Given the description of an element on the screen output the (x, y) to click on. 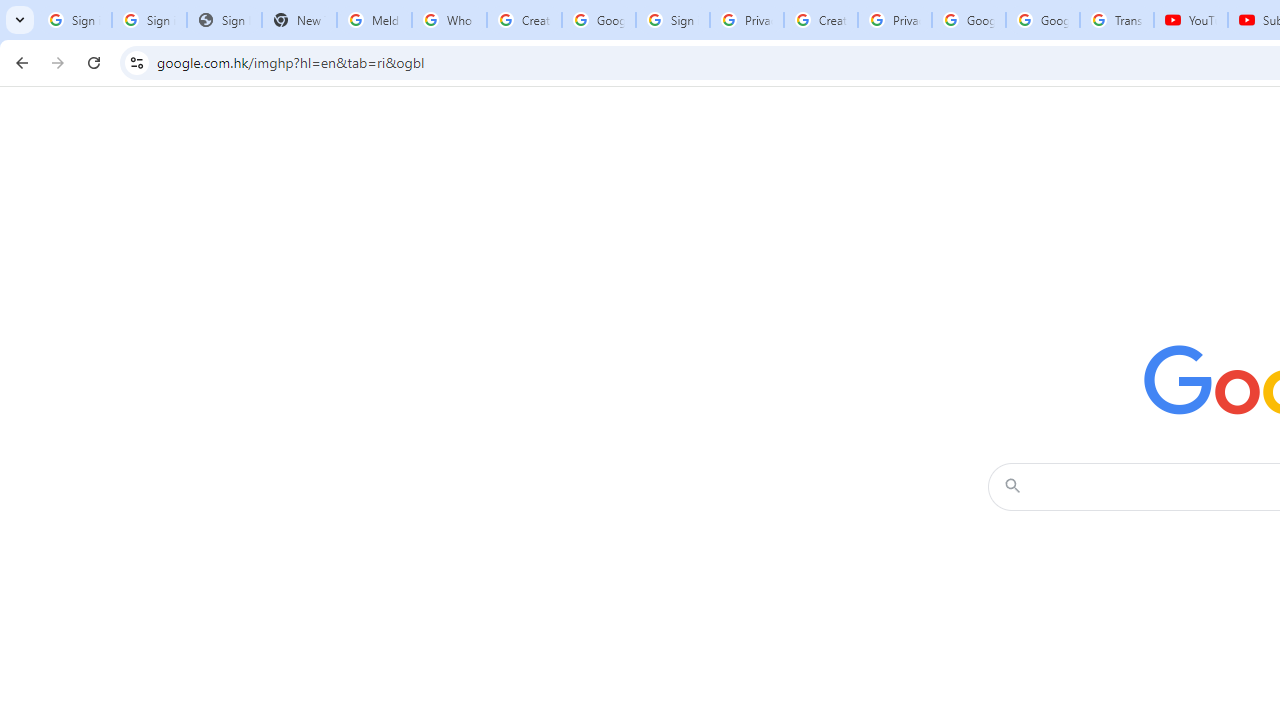
New Tab (299, 20)
Create your Google Account (523, 20)
Who is my administrator? - Google Account Help (449, 20)
Sign In - USA TODAY (224, 20)
Create your Google Account (820, 20)
YouTube (1190, 20)
Google Account (1043, 20)
Sign in - Google Accounts (673, 20)
